Given the description of an element on the screen output the (x, y) to click on. 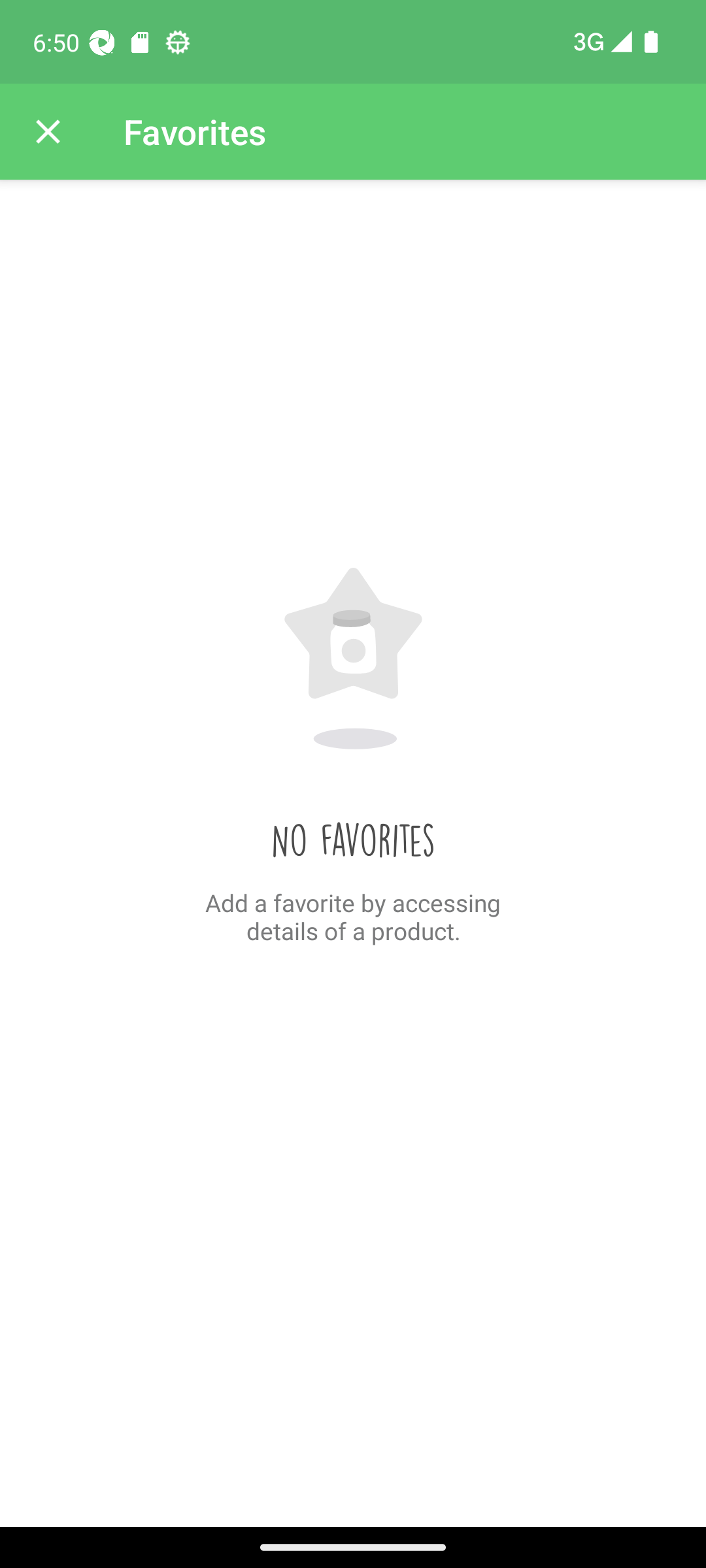
Navigate up (48, 131)
